Given the description of an element on the screen output the (x, y) to click on. 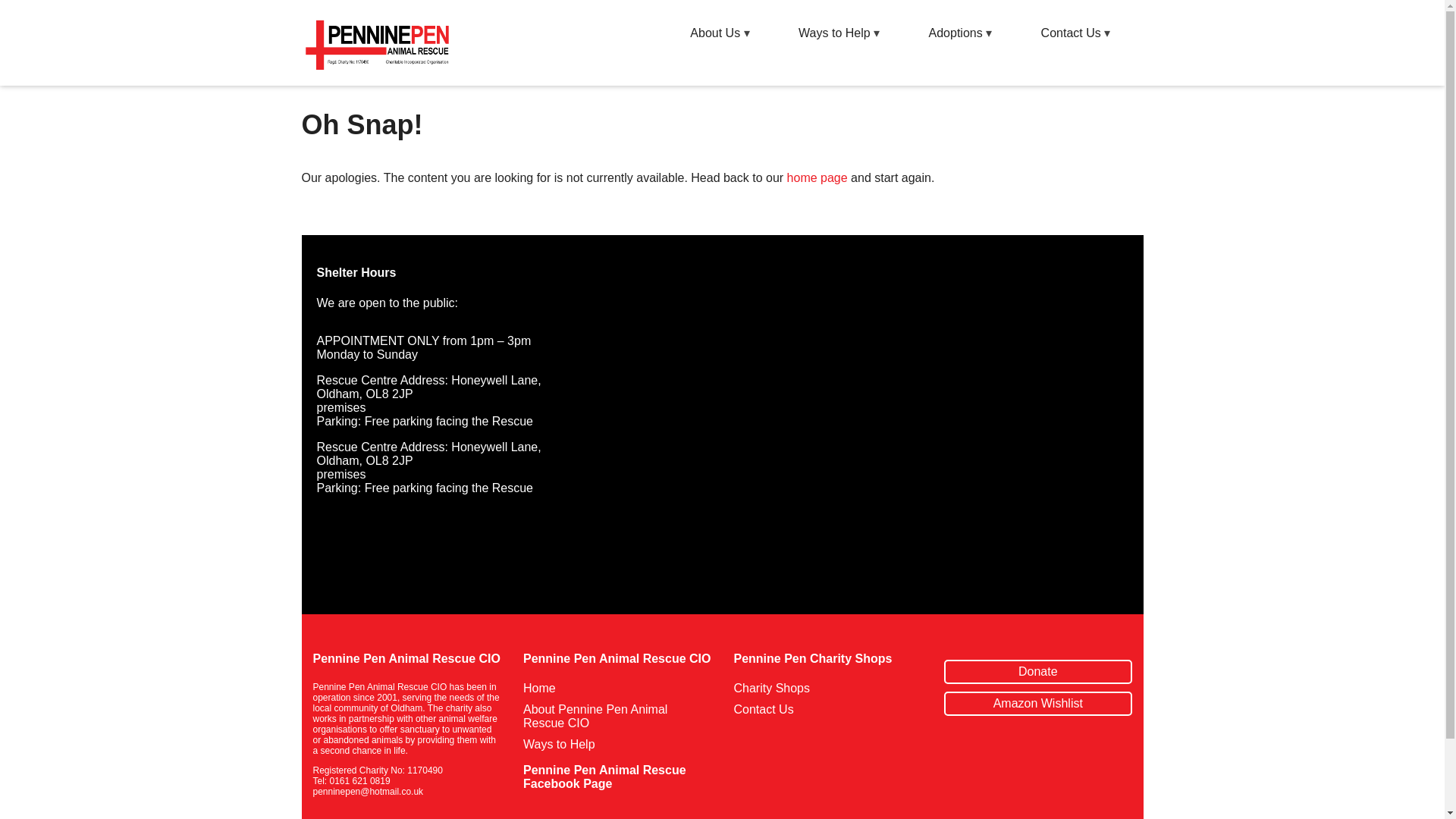
Ways to Help (833, 32)
home page (817, 177)
Home (539, 687)
Ways to Help (558, 744)
Donate (1037, 671)
About Us (714, 32)
0161 621 0819 (360, 780)
Charity Shops (771, 687)
Contact Us (1070, 32)
Adoptions (955, 32)
